Given the description of an element on the screen output the (x, y) to click on. 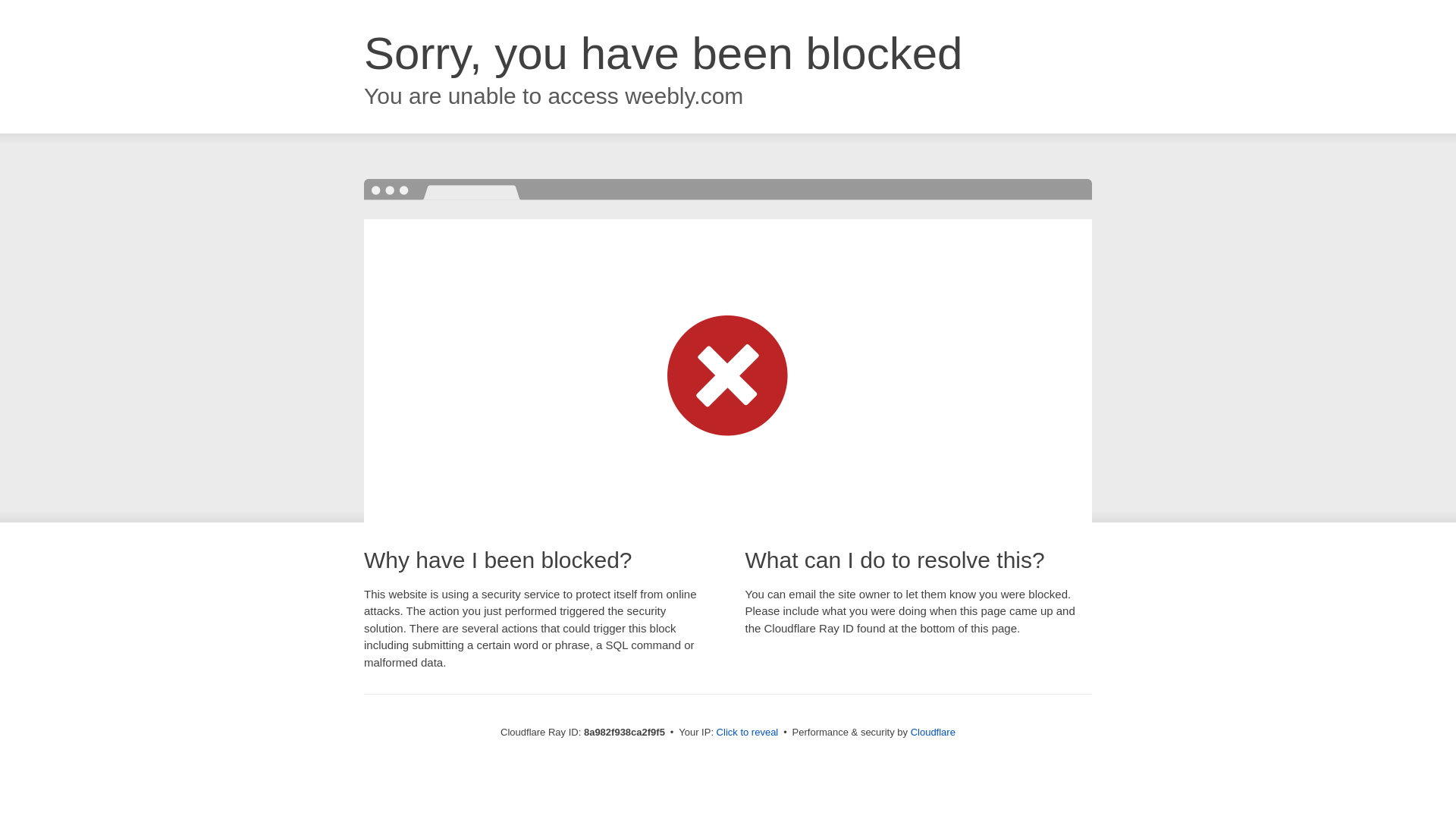
Click to reveal (747, 732)
Cloudflare (933, 731)
